Given the description of an element on the screen output the (x, y) to click on. 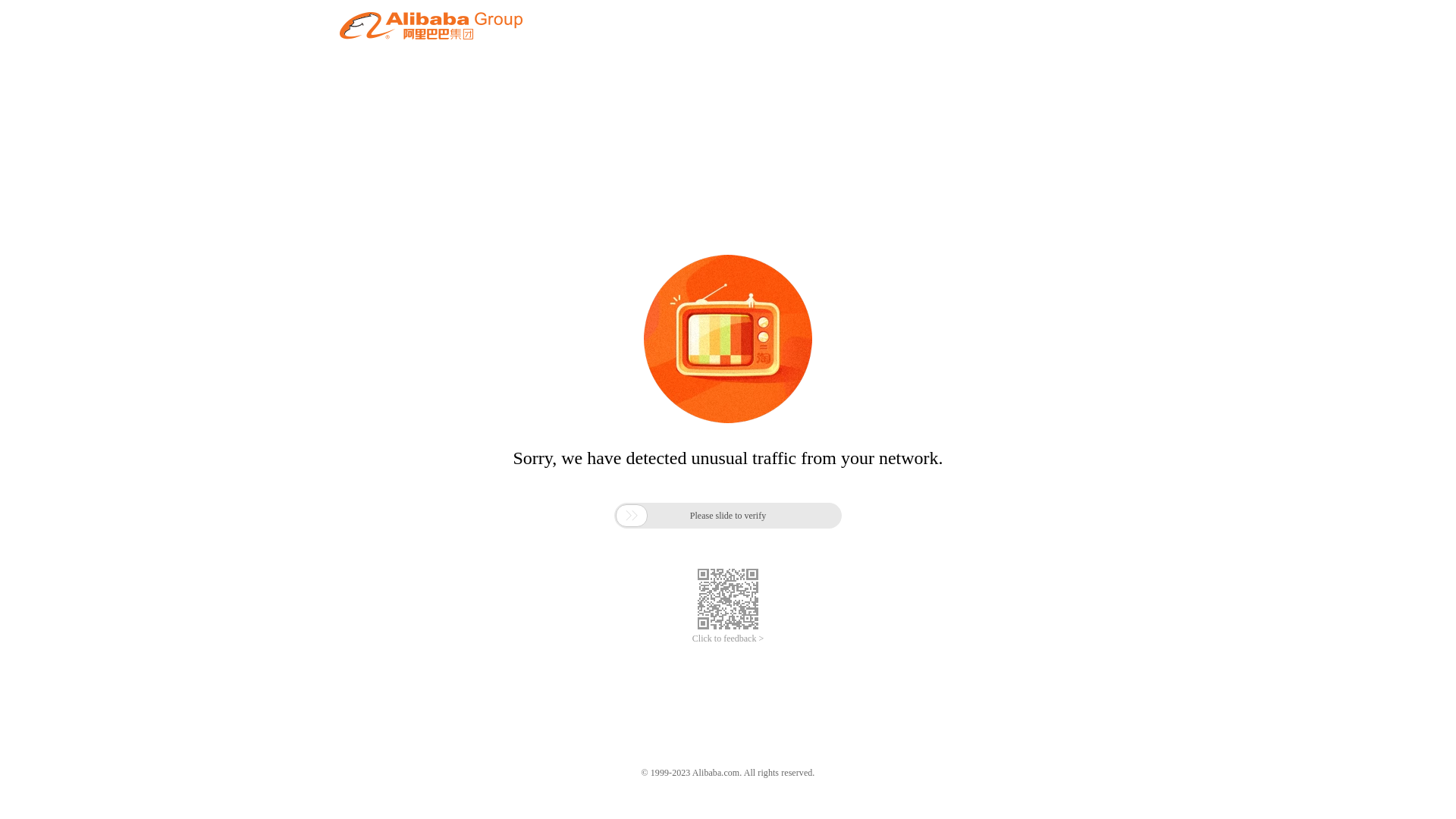
Click to feedback > Element type: text (727, 638)
